Given the description of an element on the screen output the (x, y) to click on. 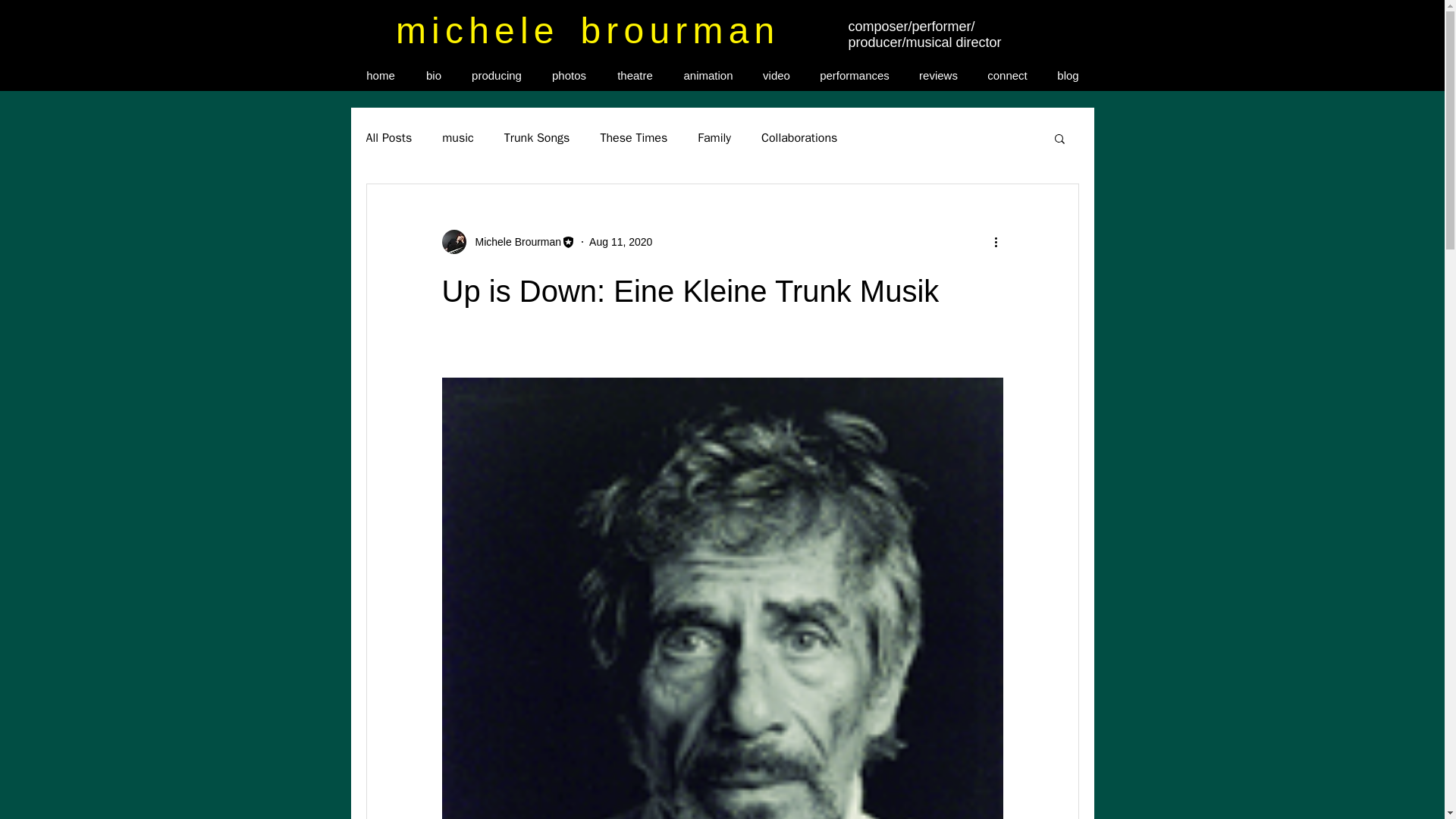
These Times (632, 138)
brourman (678, 30)
blog (1067, 75)
All Posts (388, 138)
animation (708, 75)
connect (1007, 75)
Family (713, 138)
performances (854, 75)
Collaborations (799, 138)
reviews (938, 75)
photos (569, 75)
Trunk Songs (536, 138)
Aug 11, 2020 (620, 241)
music (458, 138)
home (380, 75)
